Given the description of an element on the screen output the (x, y) to click on. 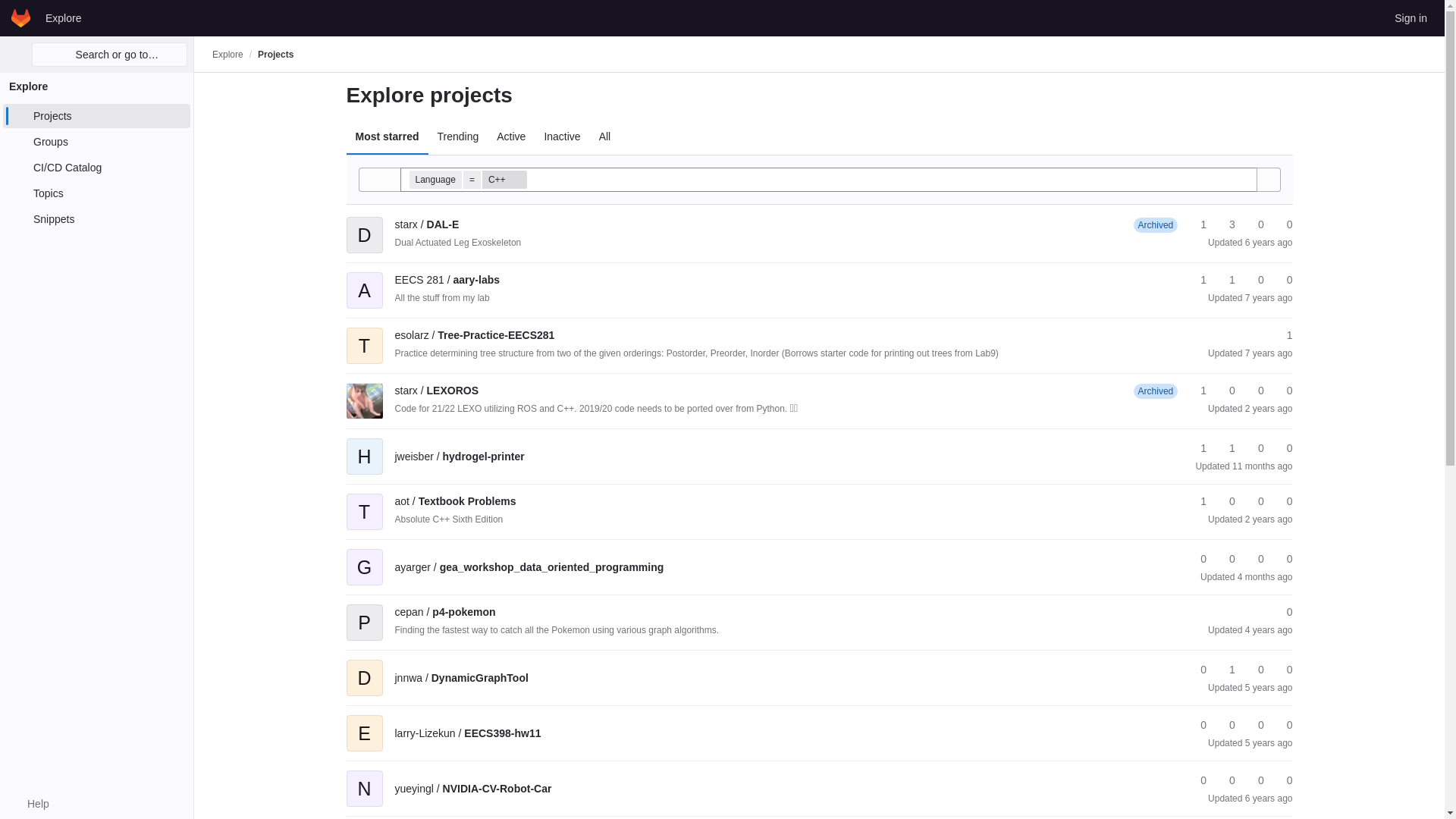
D (363, 224)
Projects (275, 54)
Issues (1282, 279)
Inactive (561, 135)
Stars (1196, 279)
Merge requests (1253, 279)
Explore (227, 54)
Topics (96, 192)
All (604, 135)
Sign in (1410, 17)
Forks (1224, 279)
DAL-E (426, 224)
Trending (457, 135)
Explore (63, 17)
